Given the description of an element on the screen output the (x, y) to click on. 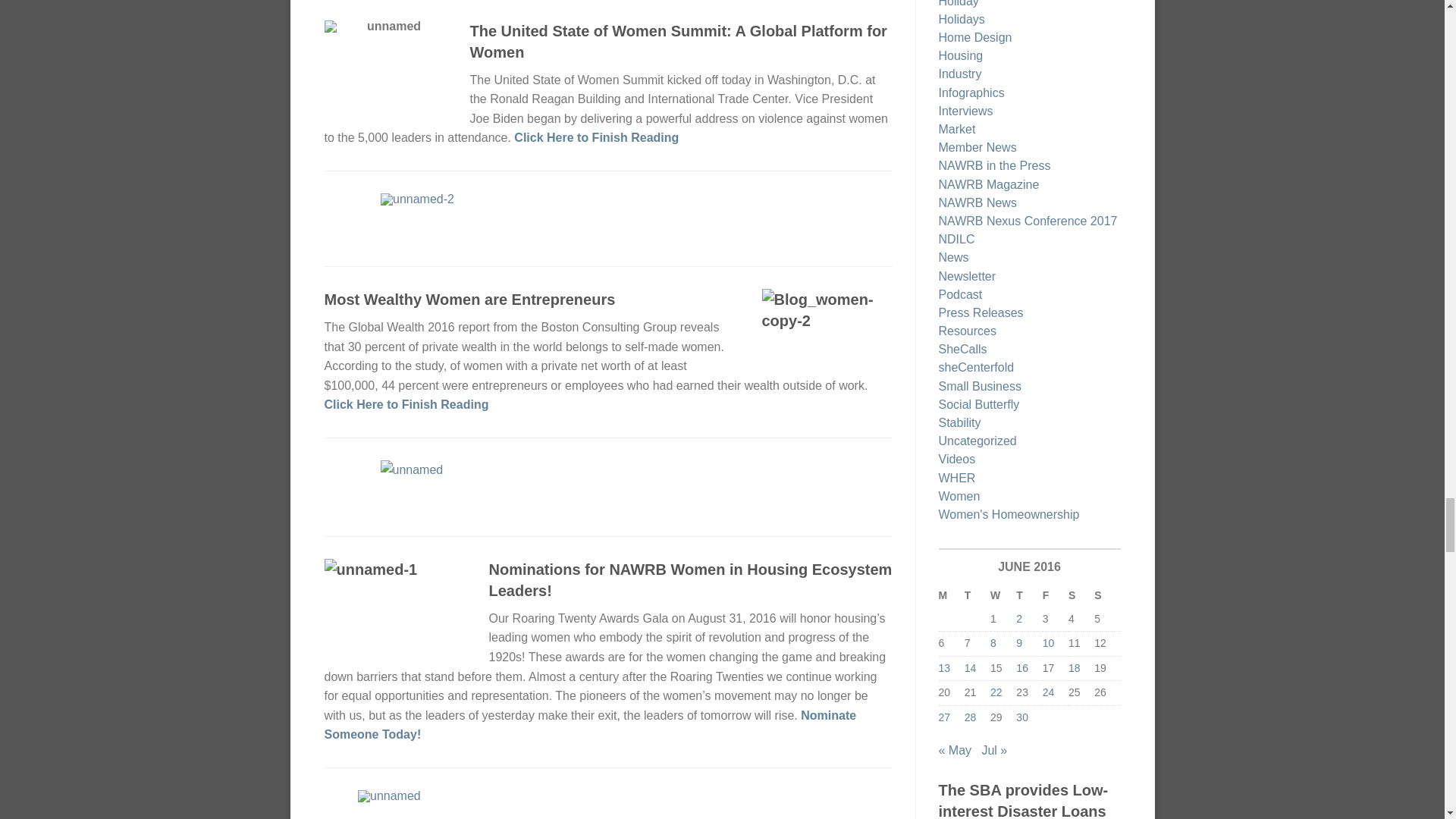
Sunday (1106, 595)
Saturday (1081, 595)
Thursday (1029, 595)
Wednesday (1003, 595)
Friday (1055, 595)
Tuesday (976, 595)
Monday (951, 595)
